Given the description of an element on the screen output the (x, y) to click on. 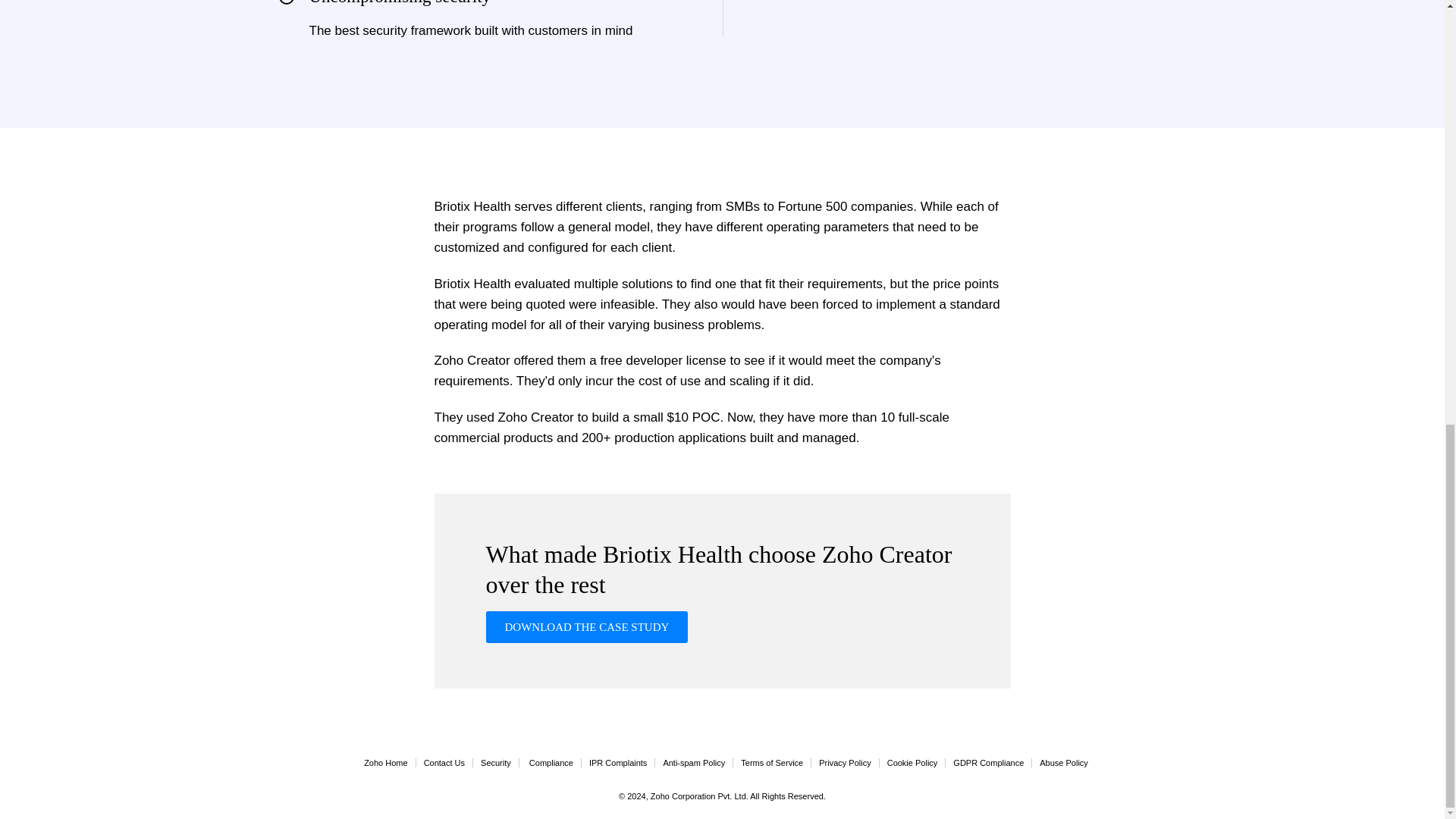
Anti-spam Policy (693, 762)
Privacy Policy (844, 762)
Security (495, 762)
IPR Complaints (617, 762)
Contact Us (443, 762)
Terms of Service (772, 762)
Cookie Policy (911, 762)
Zoho Home (385, 762)
Abuse Policy (1063, 762)
GDPR Compliance (988, 762)
